Given the description of an element on the screen output the (x, y) to click on. 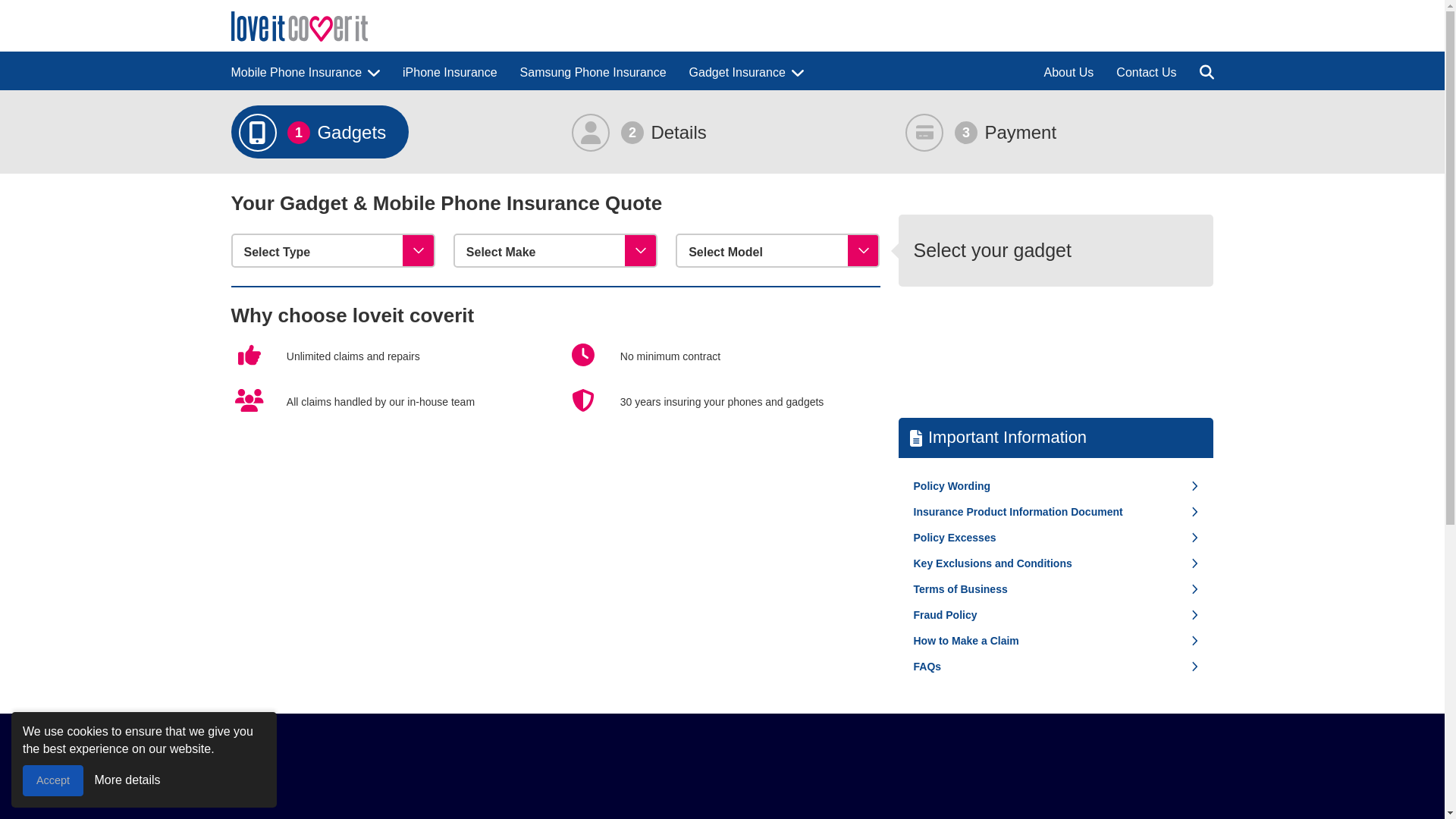
About Us (1068, 70)
Contact Us (1146, 70)
iPhone Insurance (450, 70)
Gadget Insurance (745, 70)
Customer reviews powered by Trustpilot (722, 785)
Mobile Phone Insurance (305, 70)
loveit coverit insurance (298, 26)
Samsung Phone Insurance (592, 70)
Customer reviews powered by Trustpilot (1055, 351)
